Given the description of an element on the screen output the (x, y) to click on. 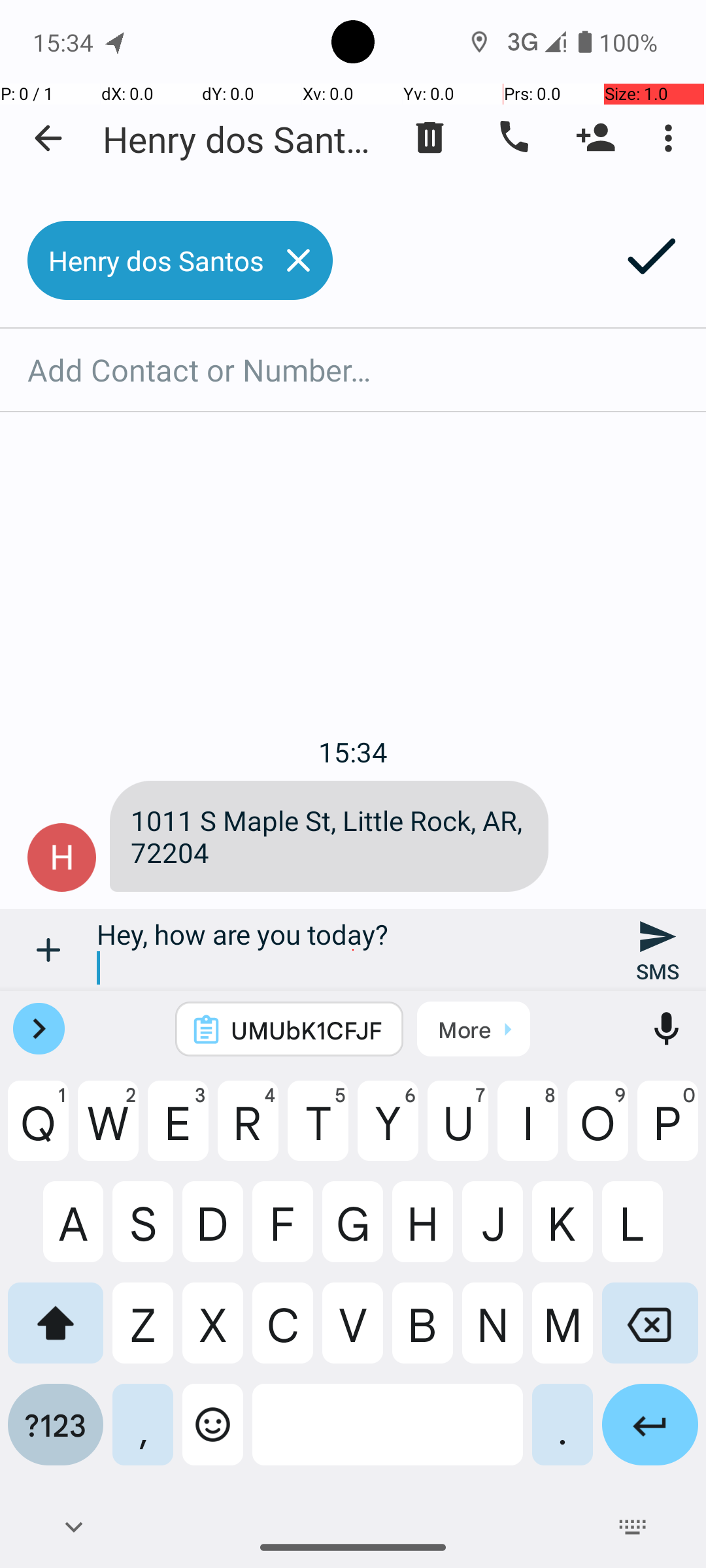
Henry dos Santos Element type: android.widget.TextView (241, 138)
Add Contact or Number… Element type: android.widget.AutoCompleteTextView (352, 369)
Hey, how are you today?
 Element type: android.widget.EditText (352, 949)
1011 S Maple St, Little Rock, AR, 72204 Element type: android.widget.TextView (328, 835)
